Given the description of an element on the screen output the (x, y) to click on. 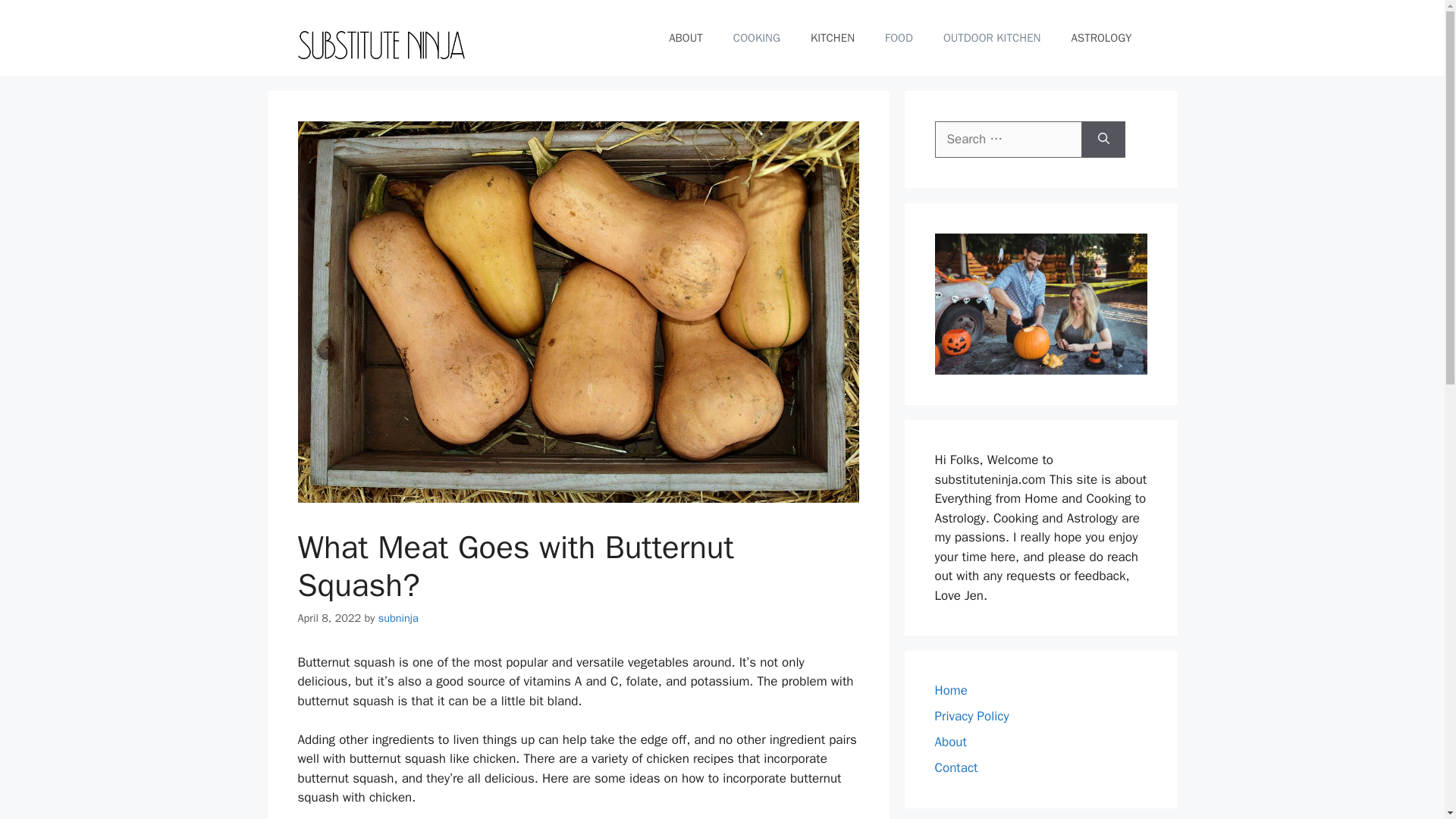
FOOD (898, 37)
ASTROLOGY (1101, 37)
Search for: (1007, 139)
Contact (955, 767)
Privacy Policy (971, 715)
Home (950, 690)
About (950, 741)
KITCHEN (831, 37)
ABOUT (685, 37)
View all posts by subninja (398, 617)
